Given the description of an element on the screen output the (x, y) to click on. 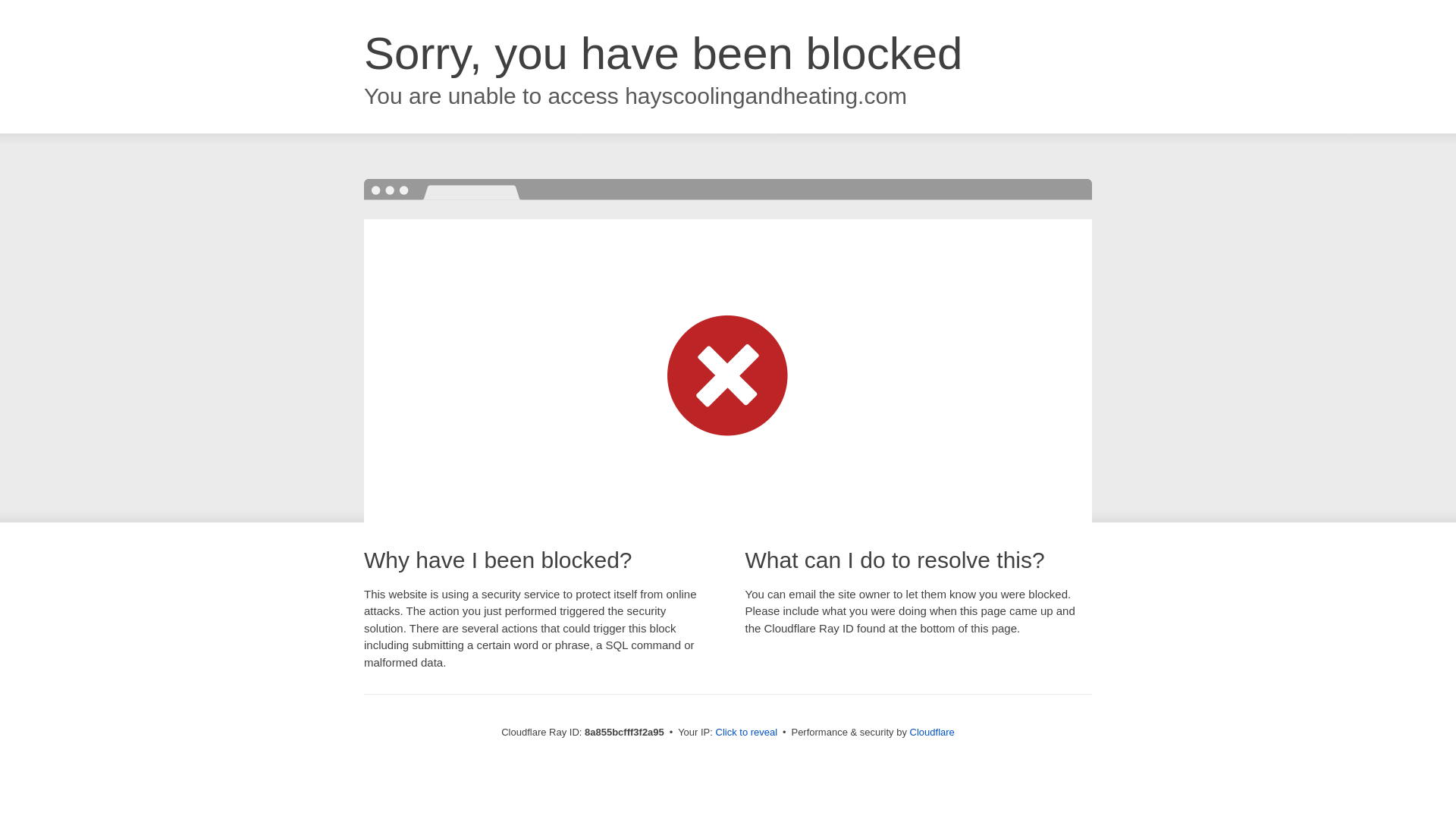
Click to reveal (746, 732)
Cloudflare (932, 731)
